Given the description of an element on the screen output the (x, y) to click on. 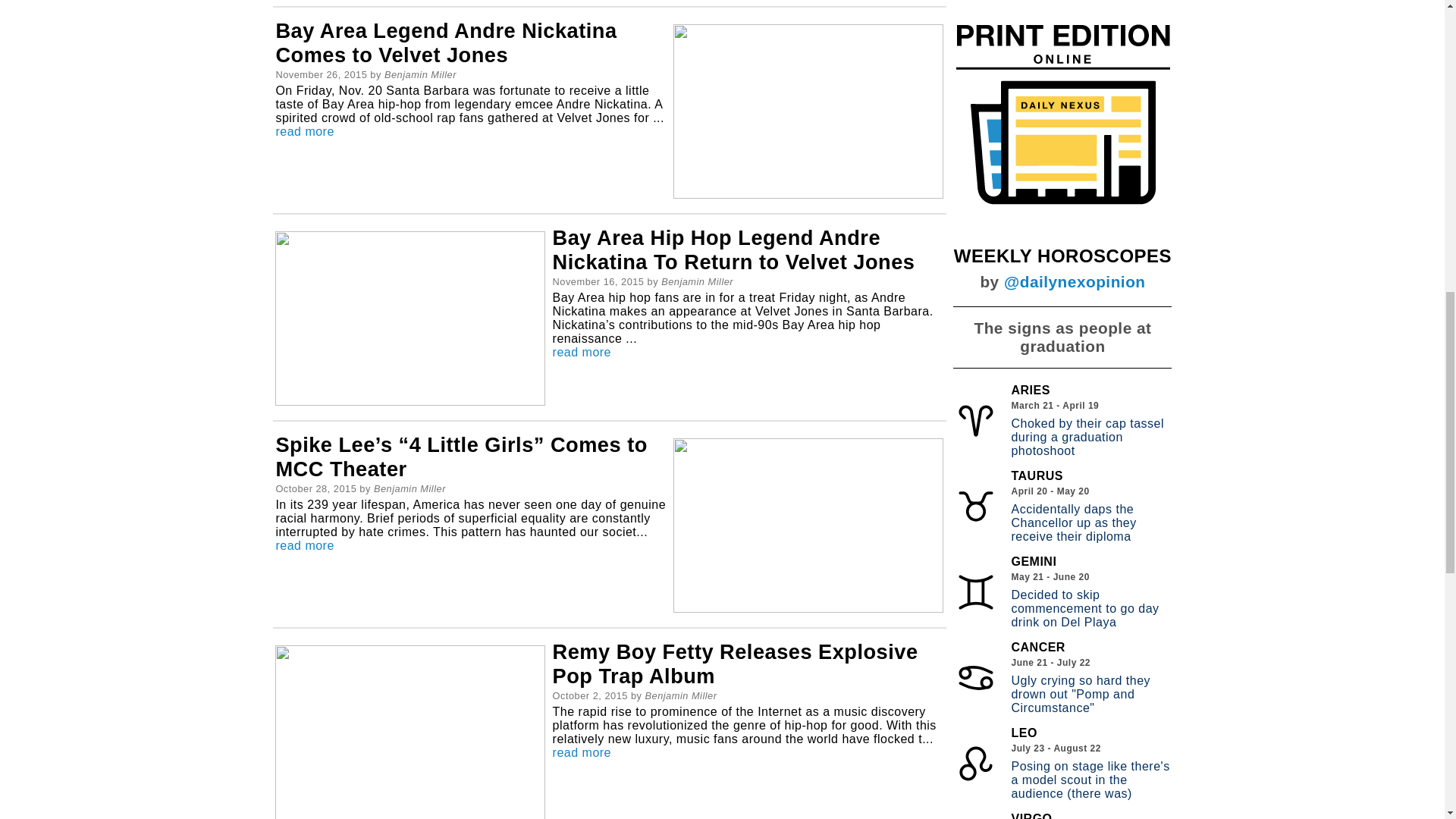
Posts by Benjamin Miller (697, 281)
Posts by Benjamin Miller (680, 695)
Posts by Benjamin Miller (409, 488)
Posts by Benjamin Miller (420, 74)
